Given the description of an element on the screen output the (x, y) to click on. 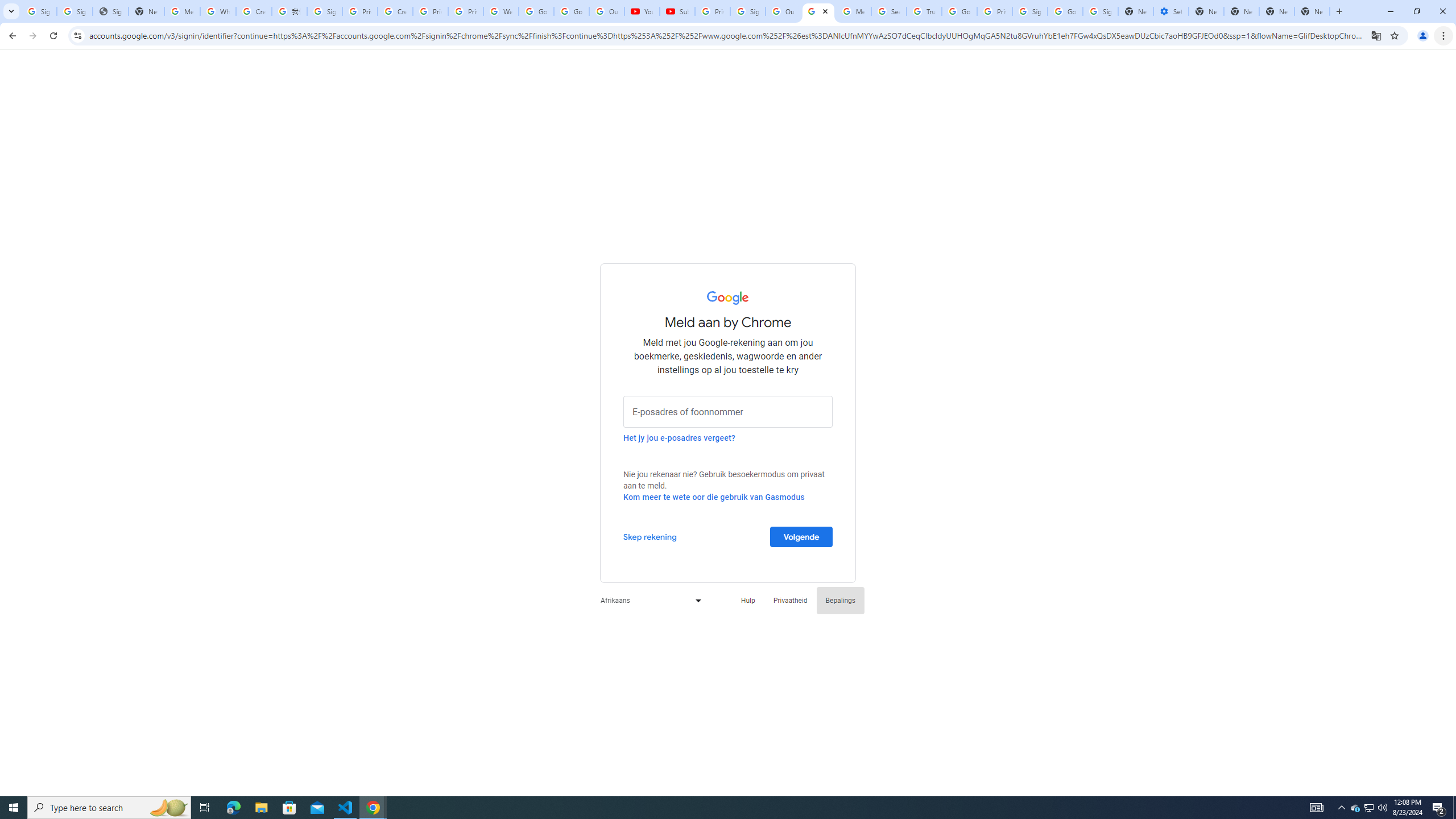
Subscriptions - YouTube (677, 11)
Bepalings (840, 600)
New Tab (1205, 11)
Het jy jou e-posadres vergeet? (678, 437)
